Given the description of an element on the screen output the (x, y) to click on. 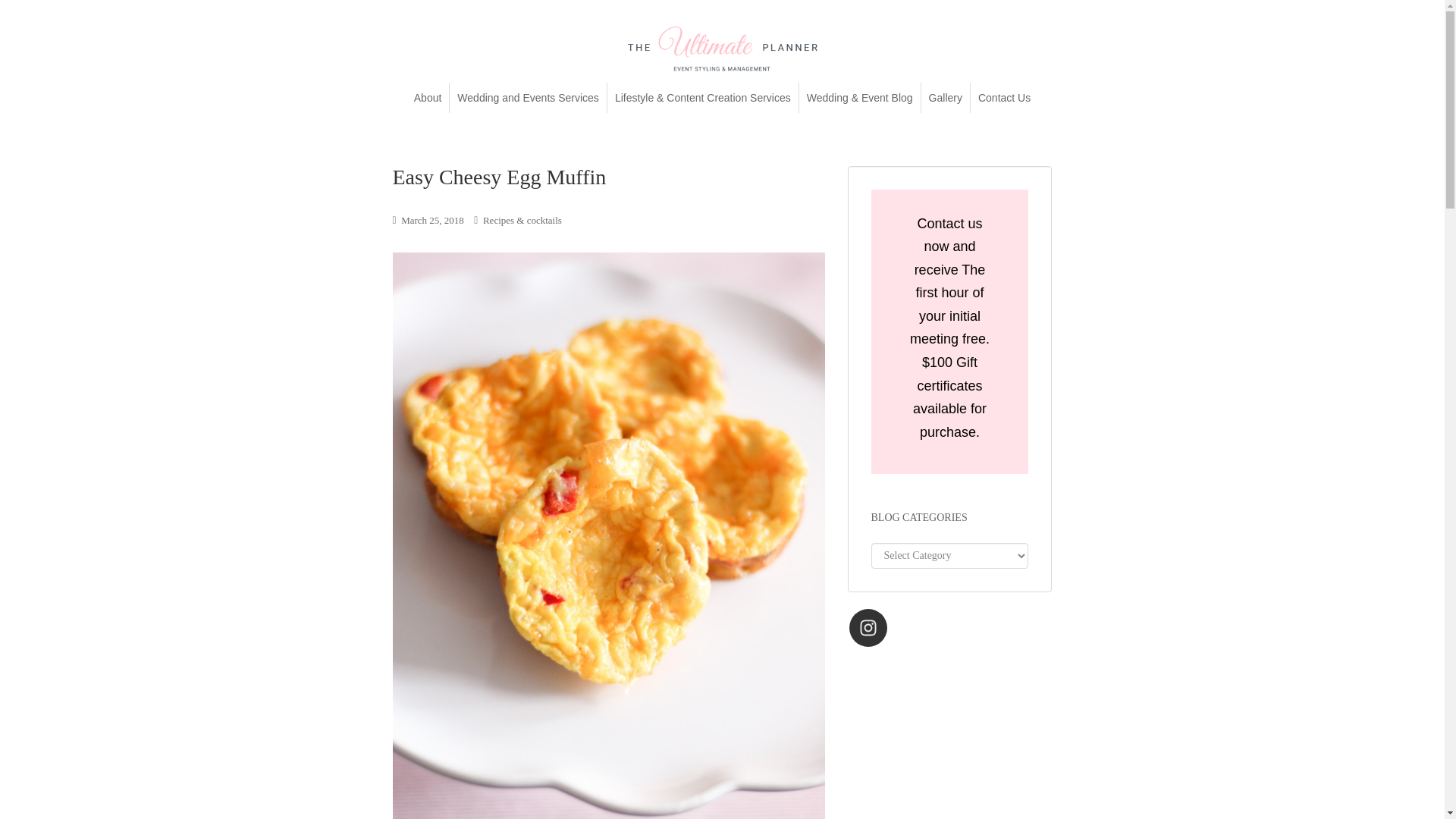
About (427, 96)
Gallery (945, 96)
Contact Us (1004, 96)
Wedding and Events Services (528, 96)
March 25, 2018 (432, 220)
